Given the description of an element on the screen output the (x, y) to click on. 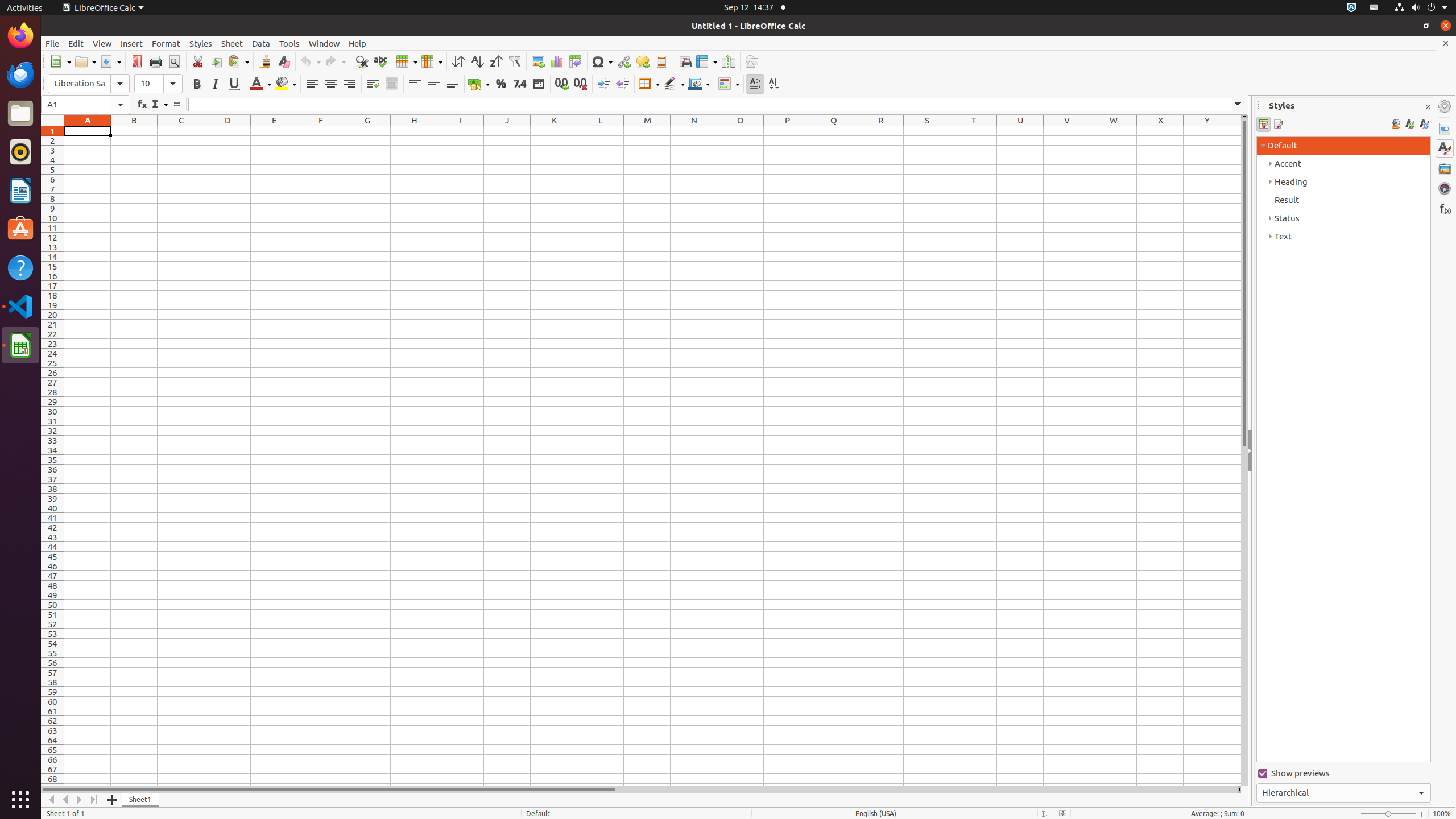
D1 Element type: table-cell (227, 130)
View Element type: menu (102, 43)
Sort Descending Element type: push-button (495, 61)
Sort Ascending Element type: push-button (476, 61)
Help Element type: push-button (20, 267)
